Given the description of an element on the screen output the (x, y) to click on. 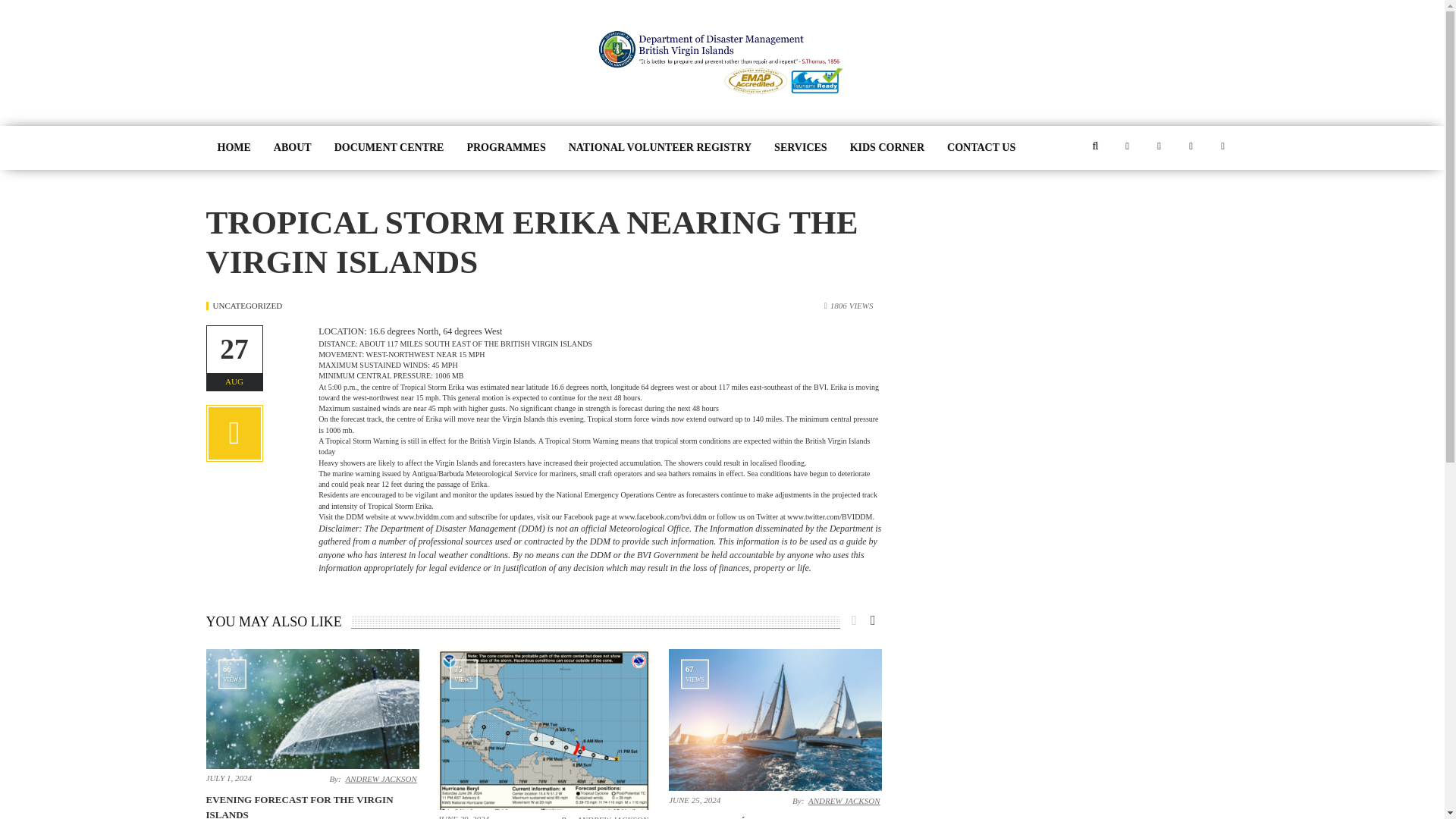
ABOUT (292, 147)
Uncategorized (247, 305)
EVENING FORECAST FOR THE VIRGIN ISLANDS (299, 806)
HOME (234, 147)
